Given the description of an element on the screen output the (x, y) to click on. 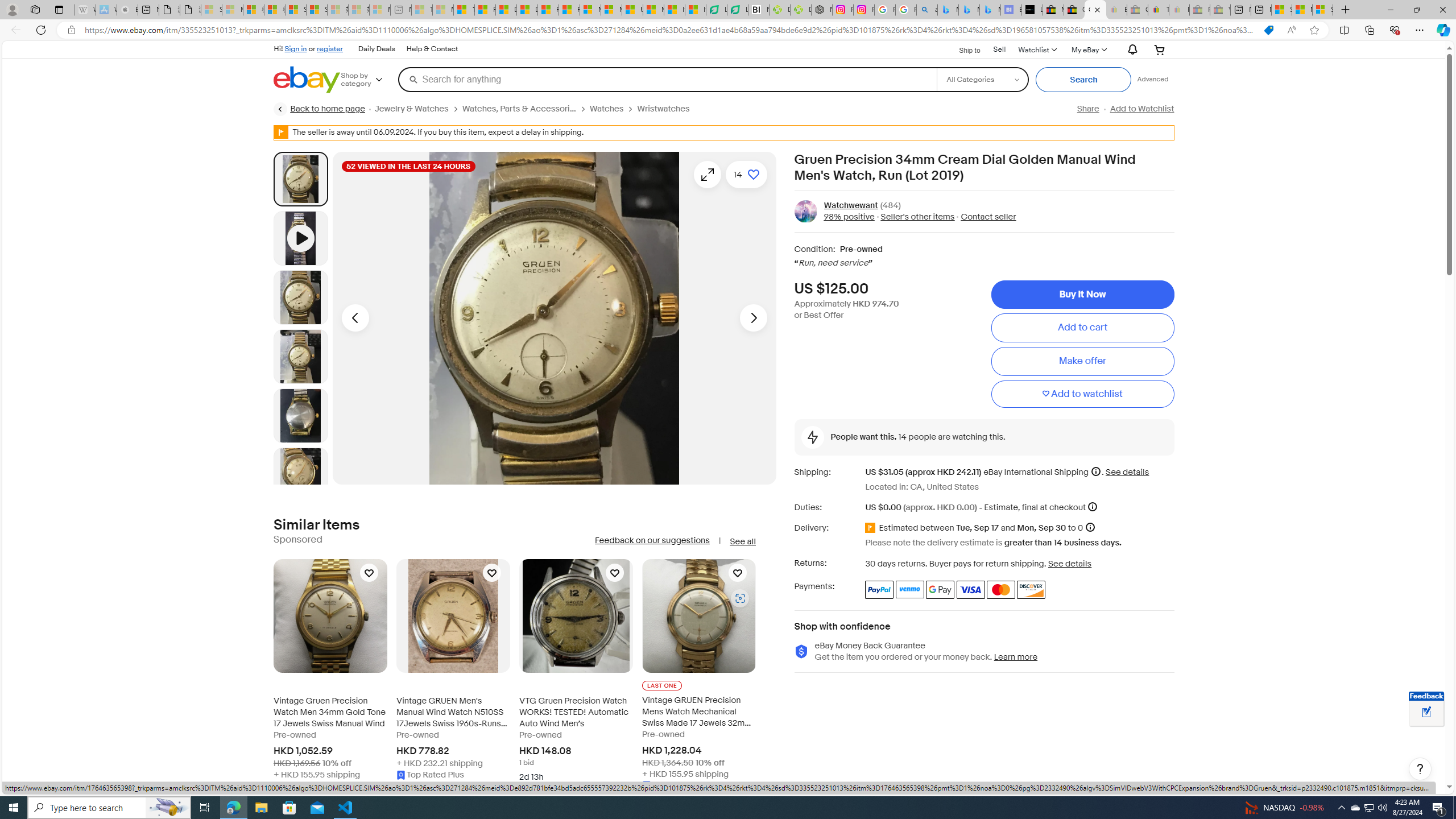
Add to watchlist (1082, 394)
98% positive (849, 216)
Feedback on our suggestions (652, 540)
Google Pay (940, 588)
This site has coupons! Shopping in Microsoft Edge (1268, 29)
Watches (606, 108)
Jewelry & Watches (418, 108)
Class: ux-action (804, 210)
Visa (970, 588)
Your shopping cart (1159, 49)
Payments Terms of Use | eBay.com - Sleeping (1178, 9)
